Given the description of an element on the screen output the (x, y) to click on. 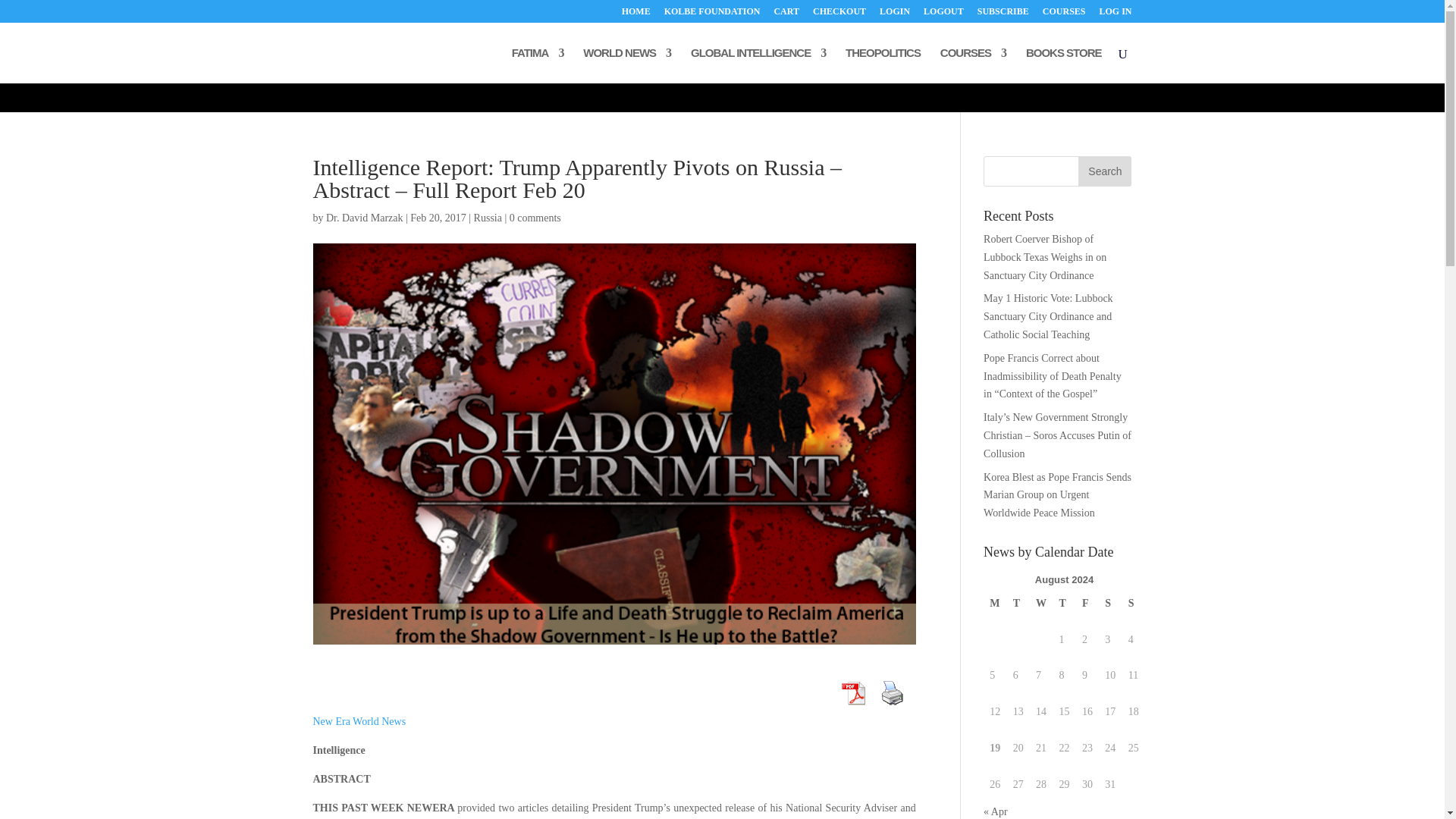
GLOBAL INTELLIGENCE (757, 65)
LOG IN (1115, 14)
Print Content (892, 693)
View PDF (853, 693)
CHECKOUT (839, 14)
COURSES (1064, 14)
FATIMA (538, 65)
SUBSCRIBE (1002, 14)
CART (786, 14)
LOGOUT (943, 14)
